Given the description of an element on the screen output the (x, y) to click on. 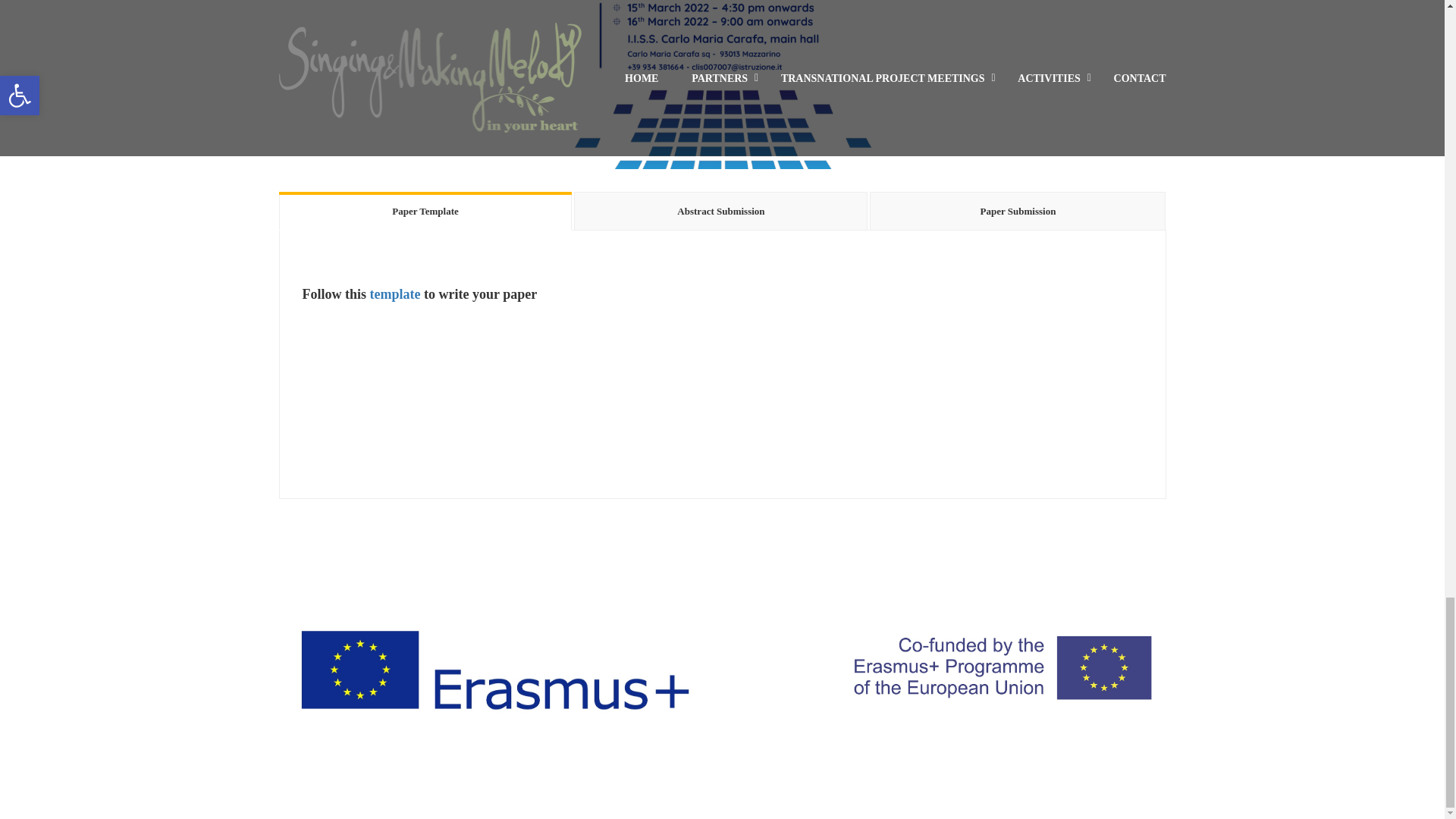
Paper Template (425, 210)
Abstract Submission (720, 210)
Paper Submission (1017, 210)
template (396, 294)
